Given the description of an element on the screen output the (x, y) to click on. 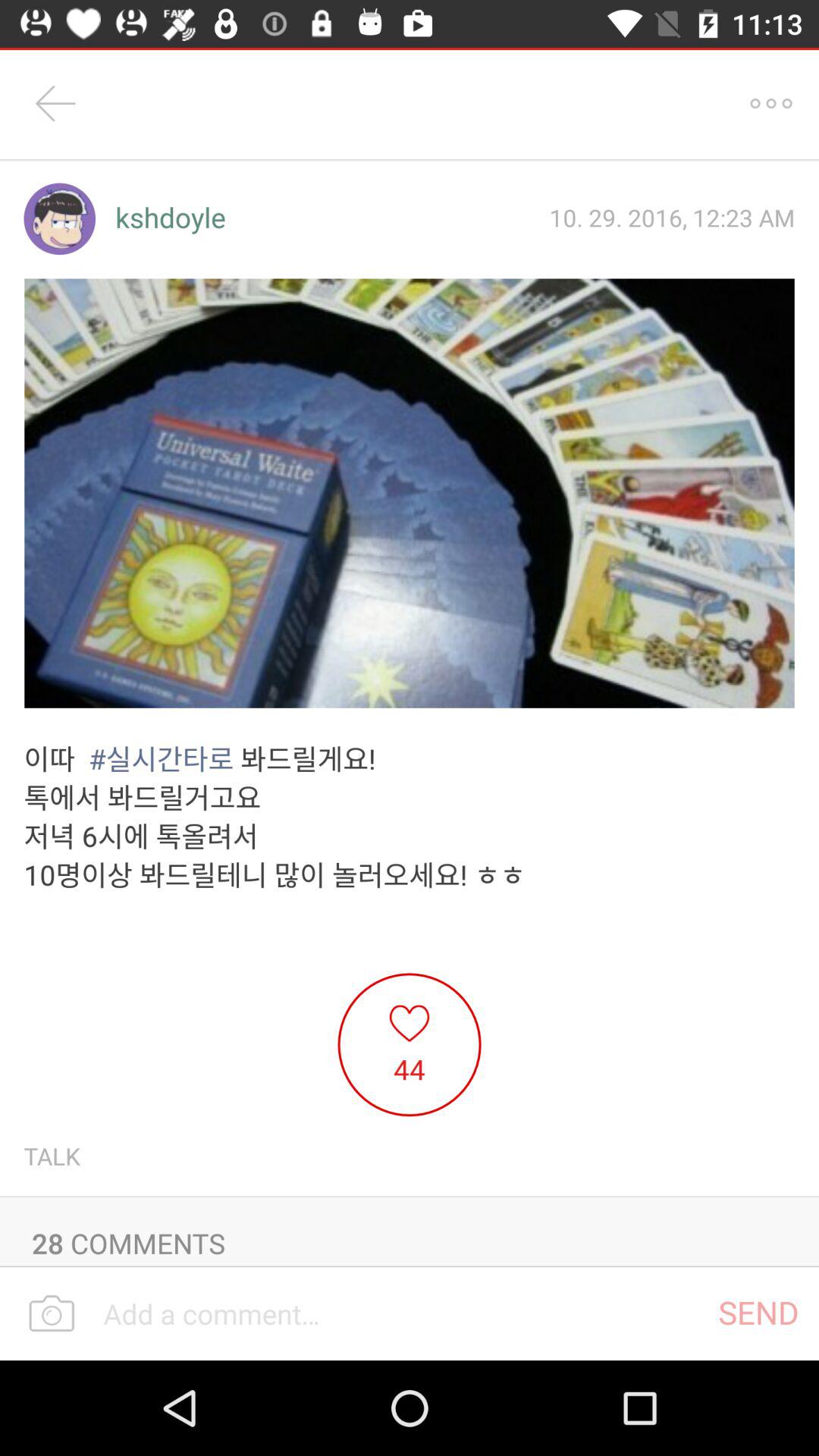
jump to send item (758, 1311)
